Given the description of an element on the screen output the (x, y) to click on. 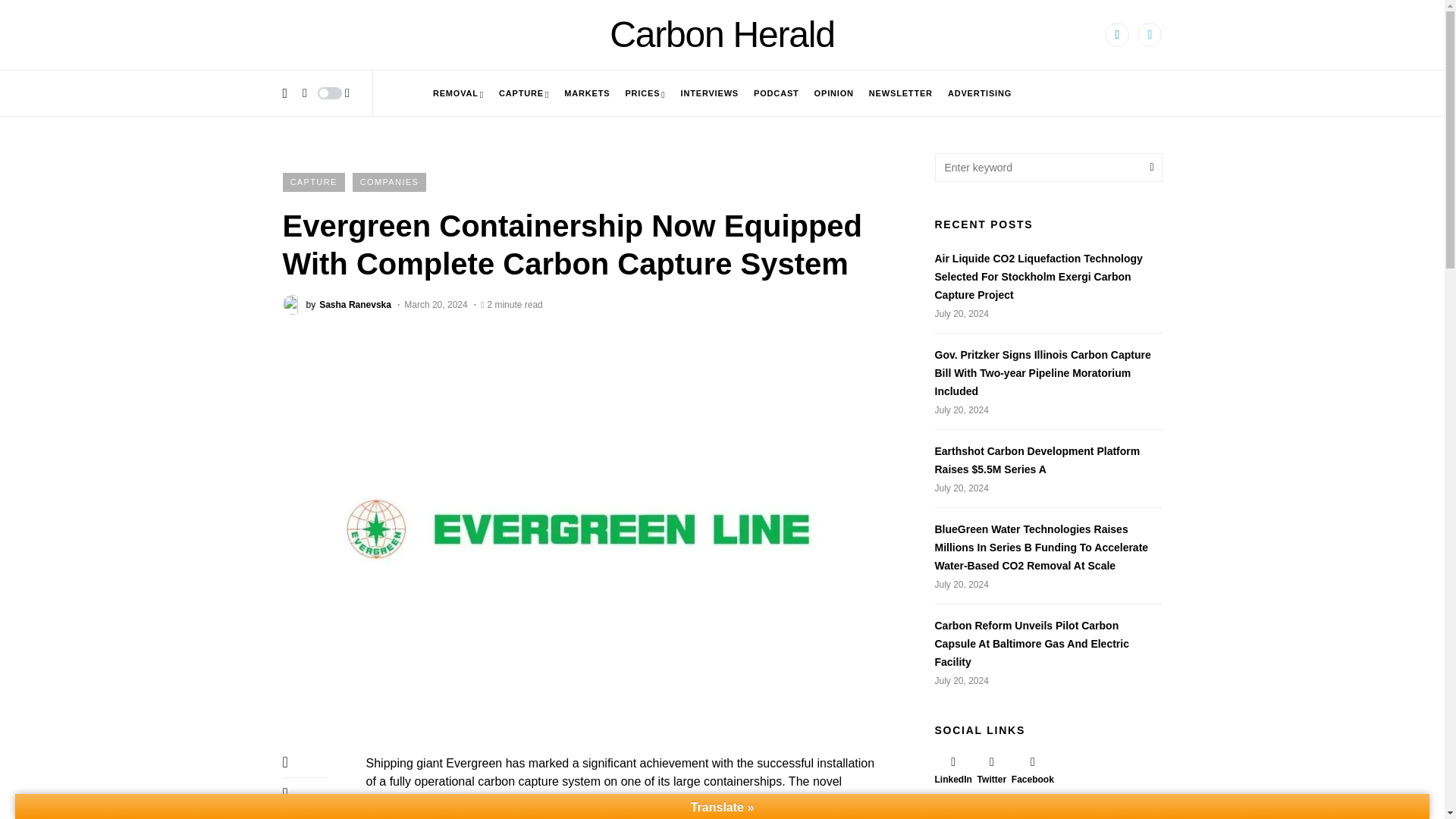
View all posts by Sasha Ranevska (336, 303)
Carbon Herald (722, 34)
REMOVAL (457, 93)
